Given the description of an element on the screen output the (x, y) to click on. 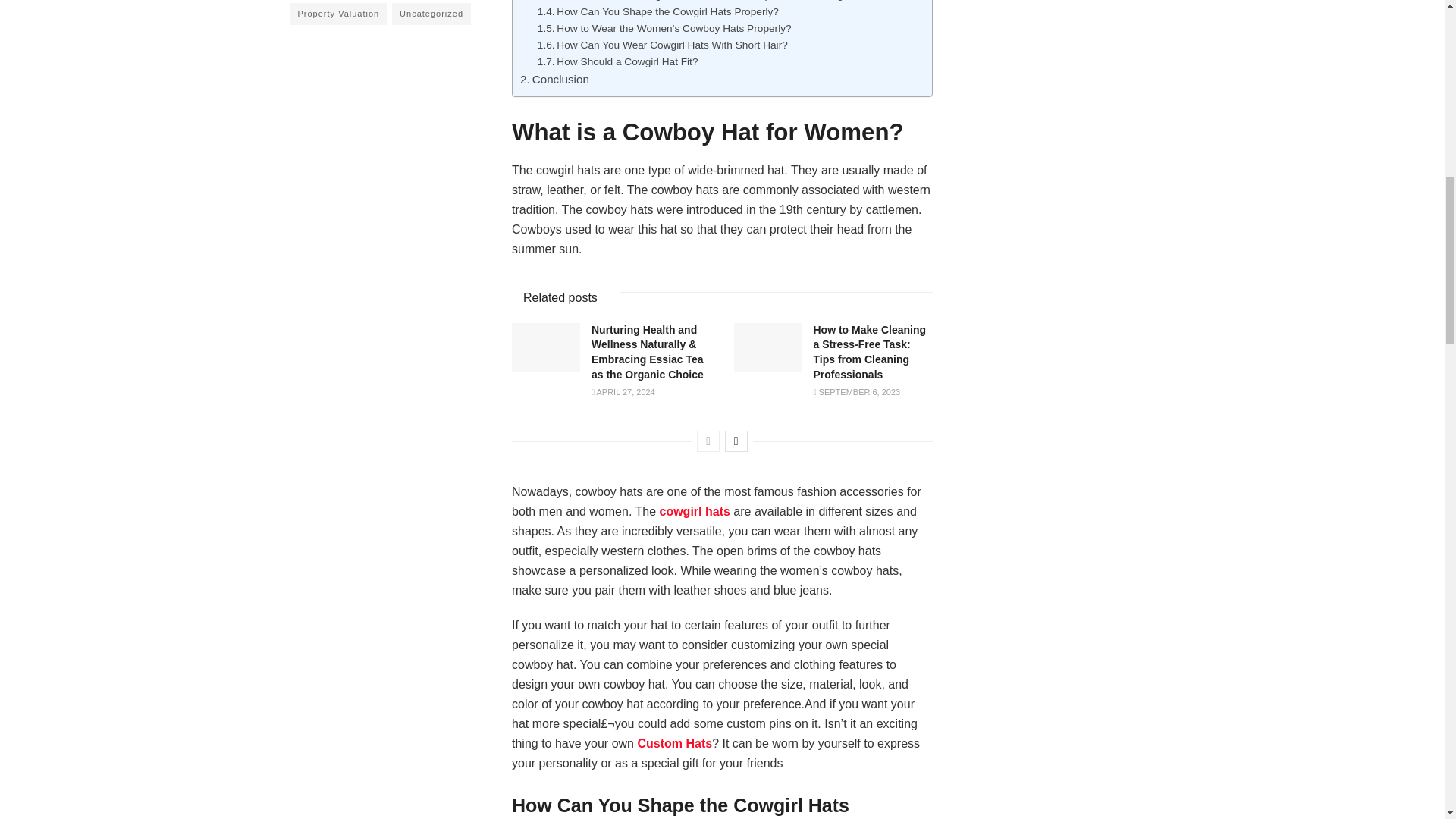
APRIL 27, 2024 (623, 391)
How Can You Wear Cowgirl Hats With Short Hair? (662, 45)
How Should a Cowgirl Hat Fit? (617, 62)
How Can You Wear Cowgirl Hats With Short Hair? (662, 45)
How Can You Shape the Cowgirl Hats Properly? (657, 12)
Next (736, 441)
How Should a Cowgirl Hat Fit? (617, 62)
